Given the description of an element on the screen output the (x, y) to click on. 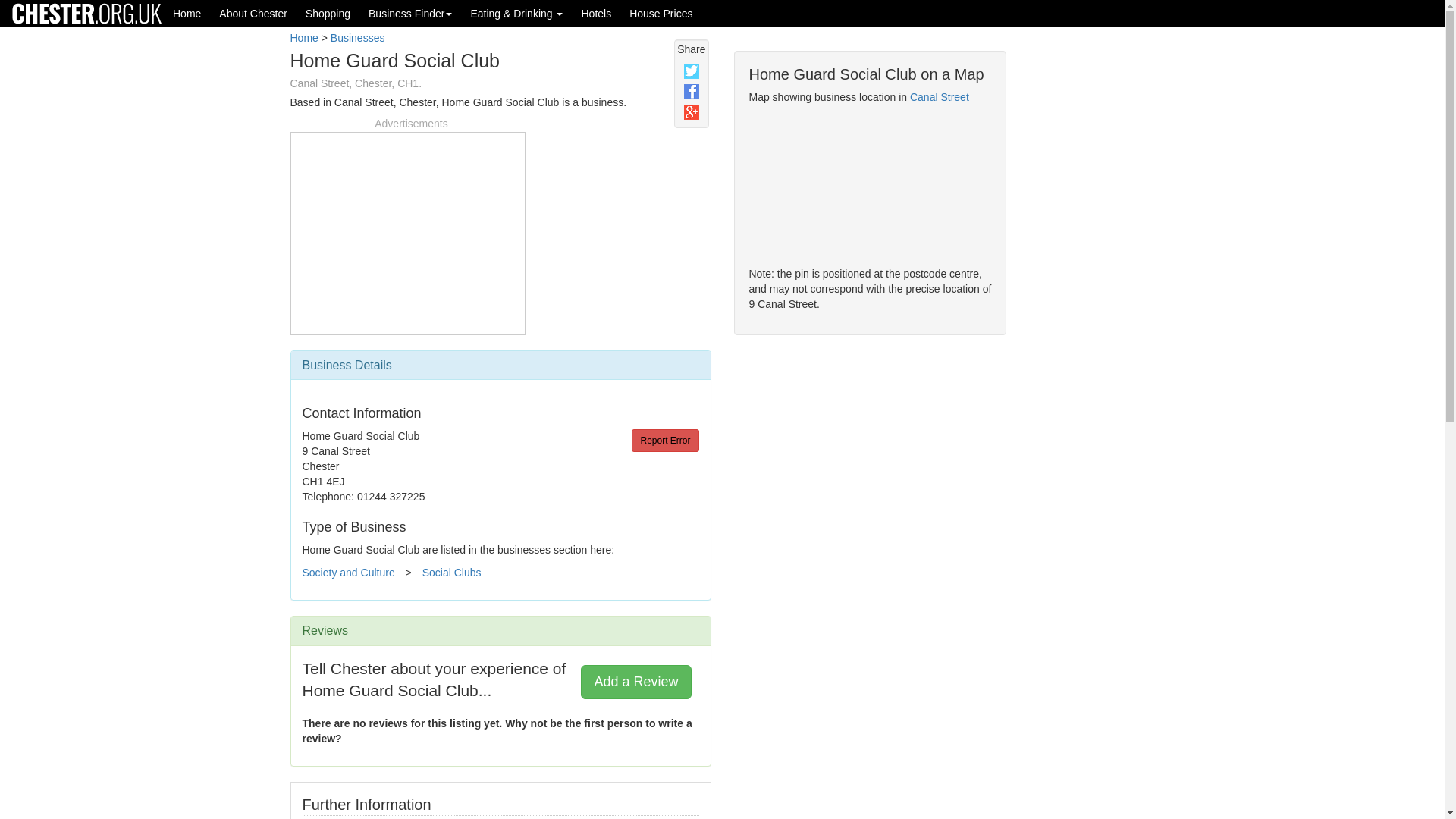
Society and Culture (347, 572)
Report Error (664, 440)
Advertisement (407, 230)
Shopping (328, 12)
House Prices (660, 12)
Home (186, 12)
About Chester (253, 12)
Hotels (596, 12)
Business Finder (410, 12)
Businesses (357, 37)
Social Clubs (451, 572)
Advertisement (1091, 296)
Canal Street (939, 96)
Home (303, 37)
Report Error (664, 440)
